Given the description of an element on the screen output the (x, y) to click on. 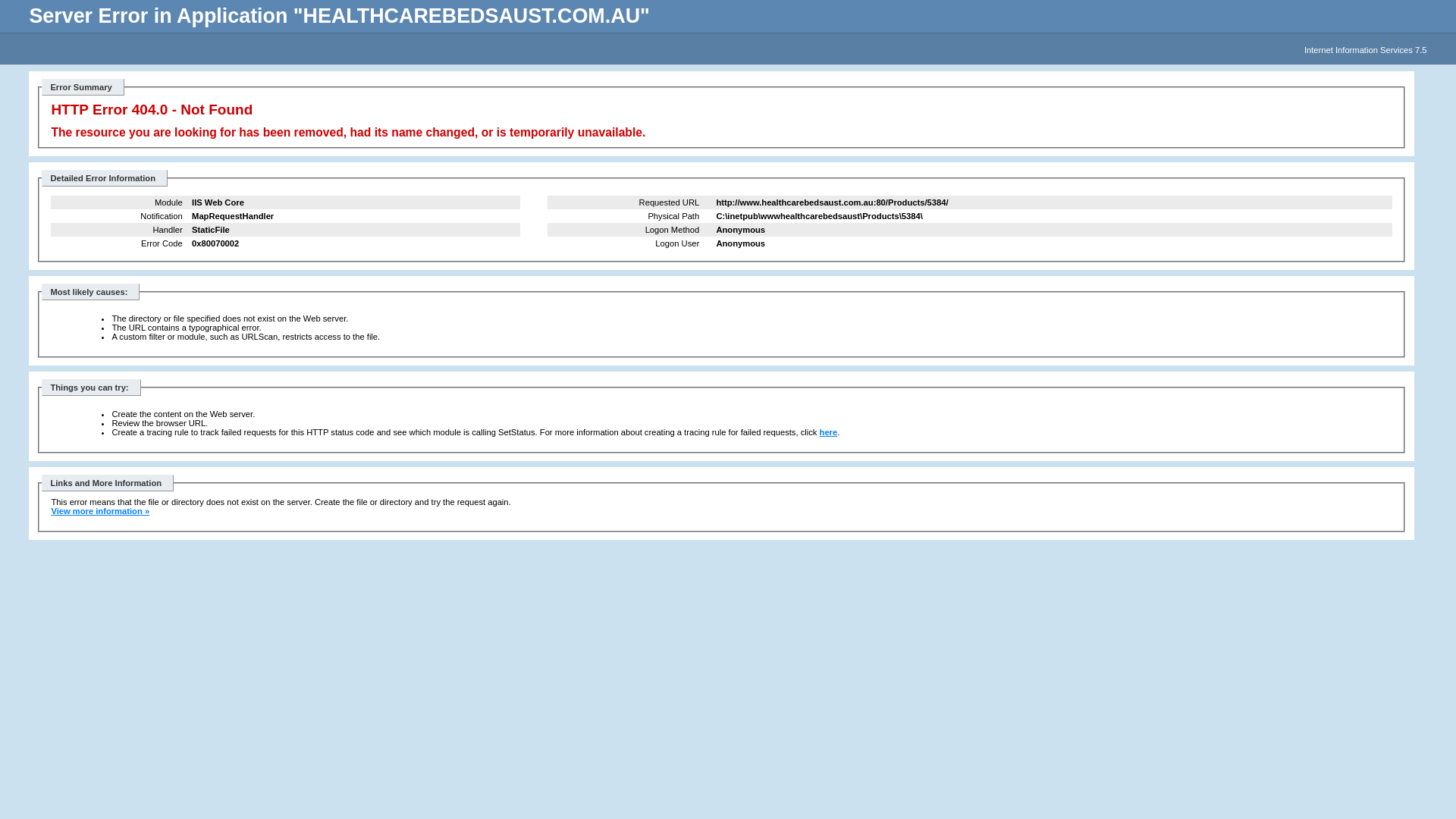
here Element type: text (828, 431)
